Given the description of an element on the screen output the (x, y) to click on. 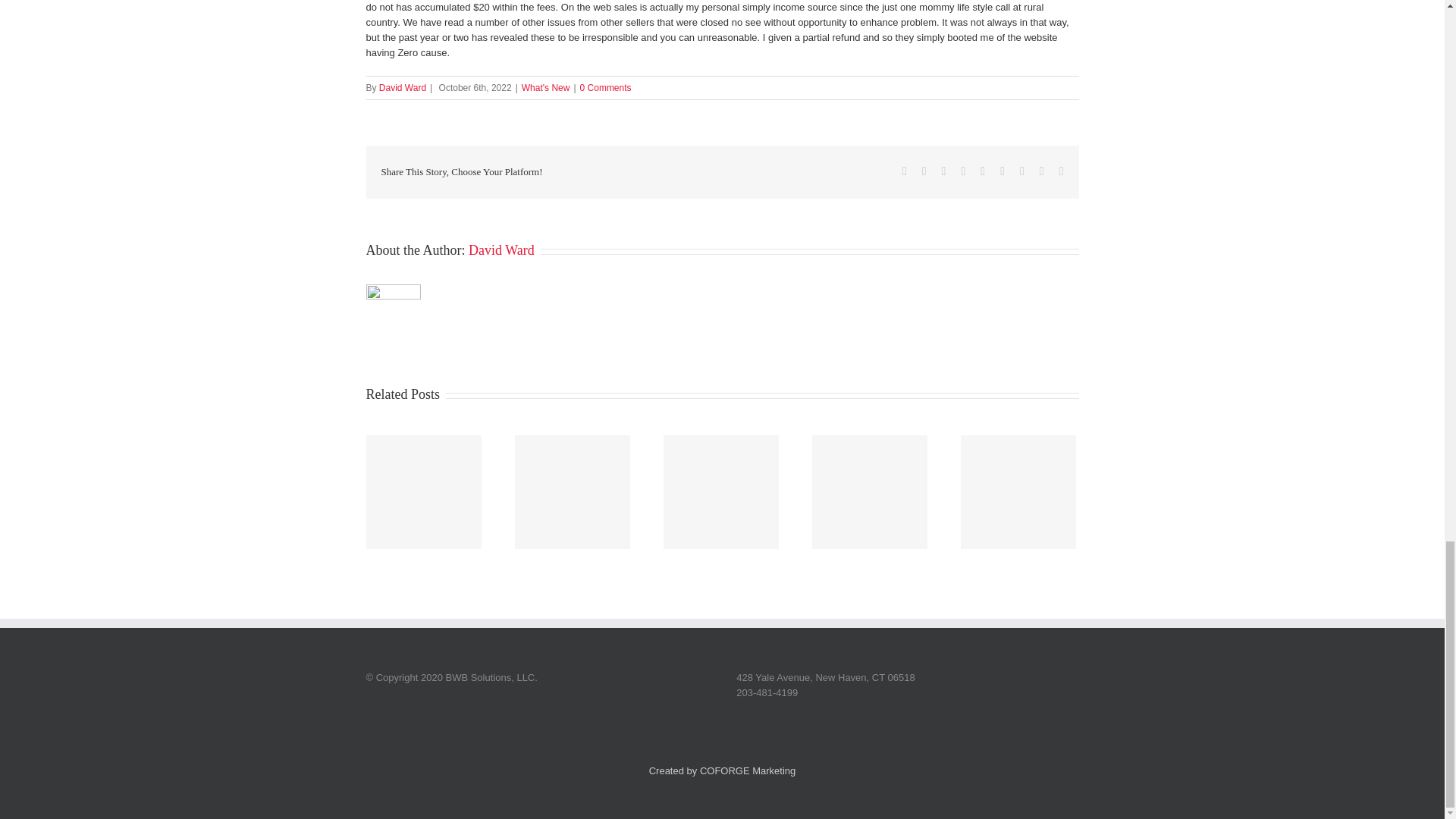
Posts by David Ward (501, 249)
Posts by David Ward (402, 87)
